Given the description of an element on the screen output the (x, y) to click on. 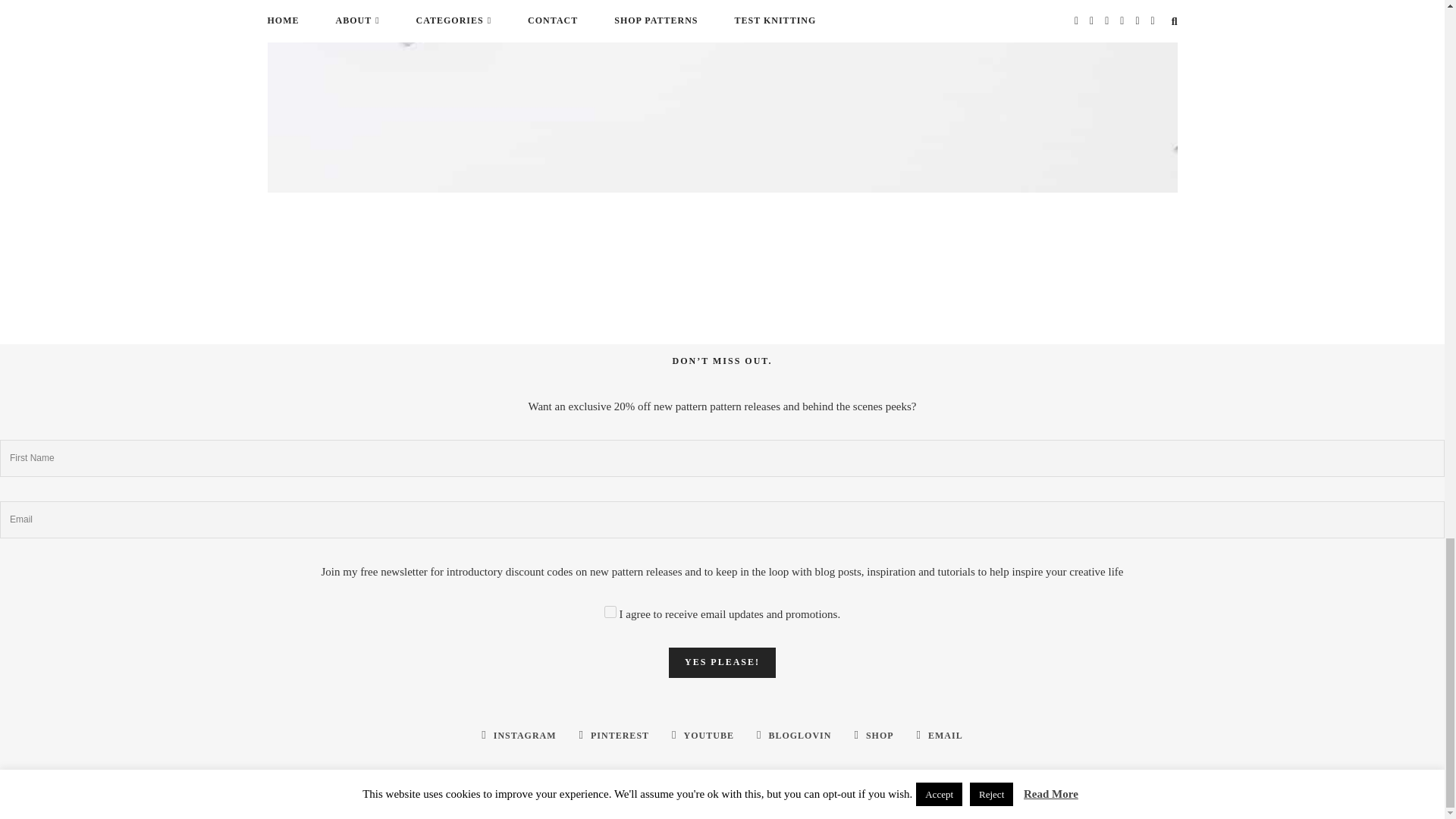
1 (609, 612)
